Given the description of an element on the screen output the (x, y) to click on. 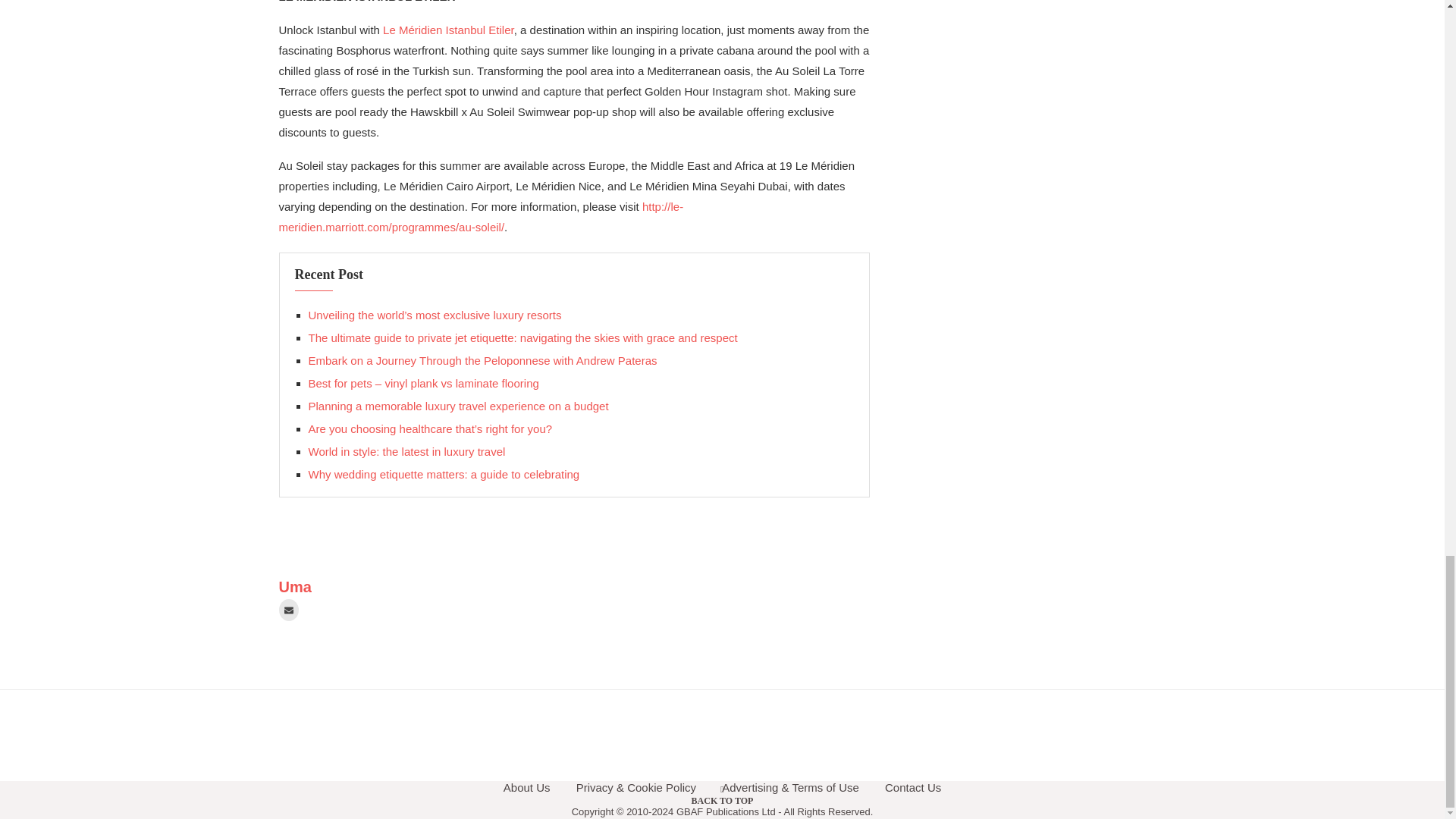
Why wedding etiquette matters: a guide to celebrating (443, 473)
Planning a memorable luxury travel experience on a budget (457, 405)
Uma (295, 586)
World in style: the latest in luxury travel (406, 451)
User email (288, 609)
